Given the description of an element on the screen output the (x, y) to click on. 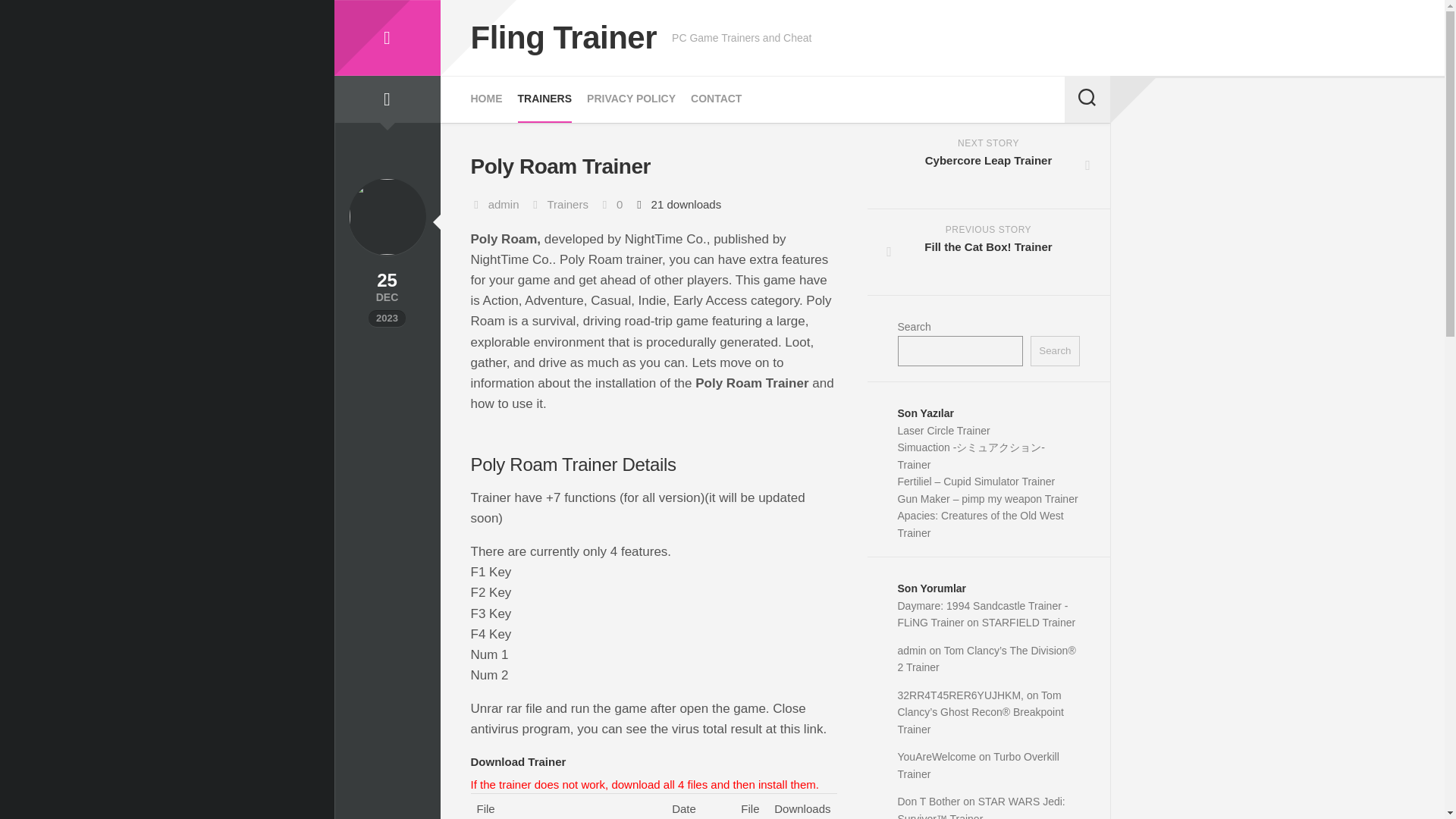
Posts by admin (503, 204)
Trainers (567, 204)
HOME (988, 252)
Search (486, 98)
Apacies: Creatures of the Old West Trainer (1054, 350)
Fling Trainer (981, 523)
PRIVACY POLICY (386, 38)
Daymare: 1994 Sandcastle Trainer - FLiNG Trainer (630, 98)
TRAINERS (983, 613)
